Given the description of an element on the screen output the (x, y) to click on. 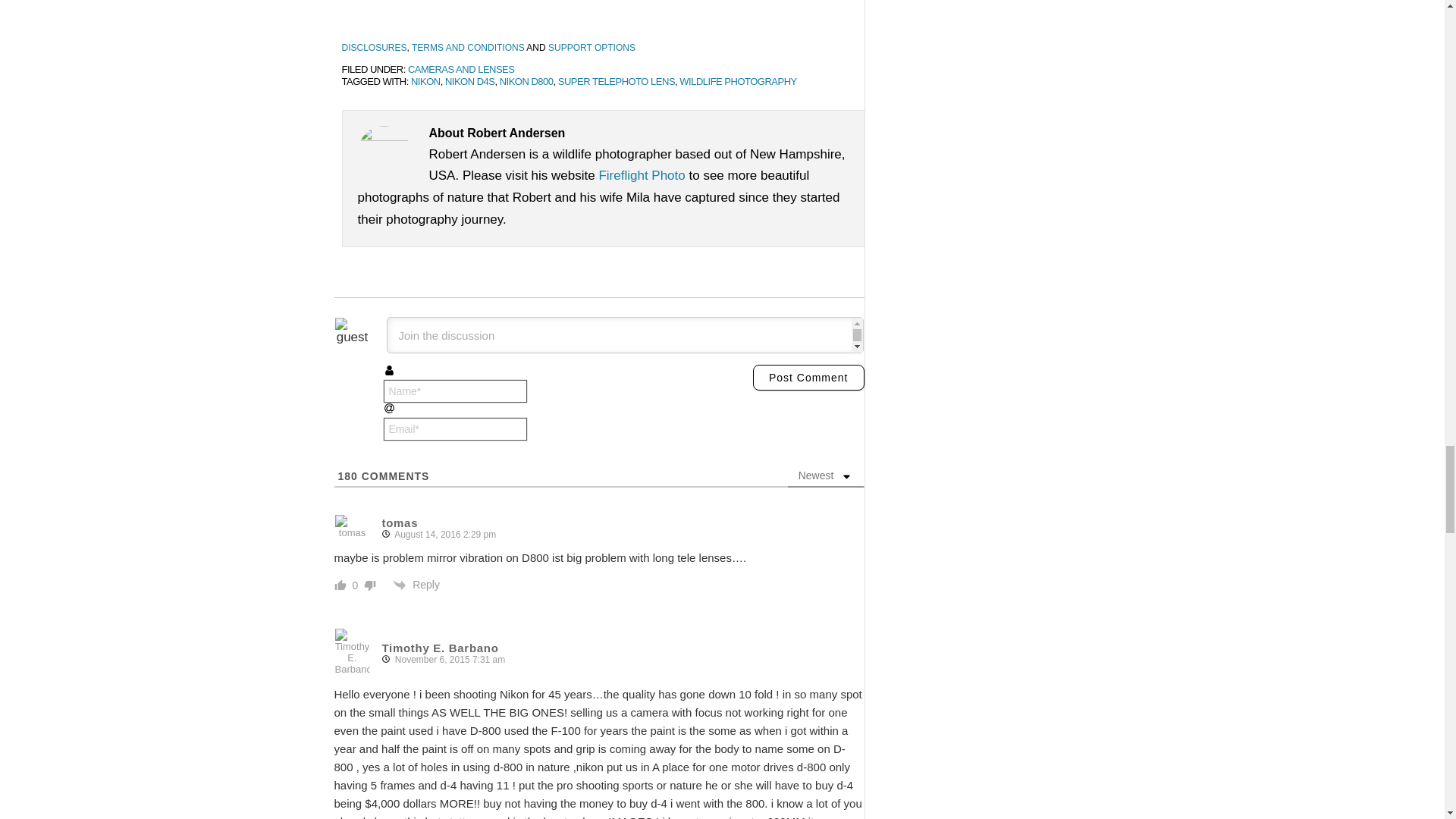
TERMS AND CONDITIONS (468, 47)
Post Comment (808, 377)
SUPPORT OPTIONS (591, 47)
DISCLOSURES (373, 47)
